Given the description of an element on the screen output the (x, y) to click on. 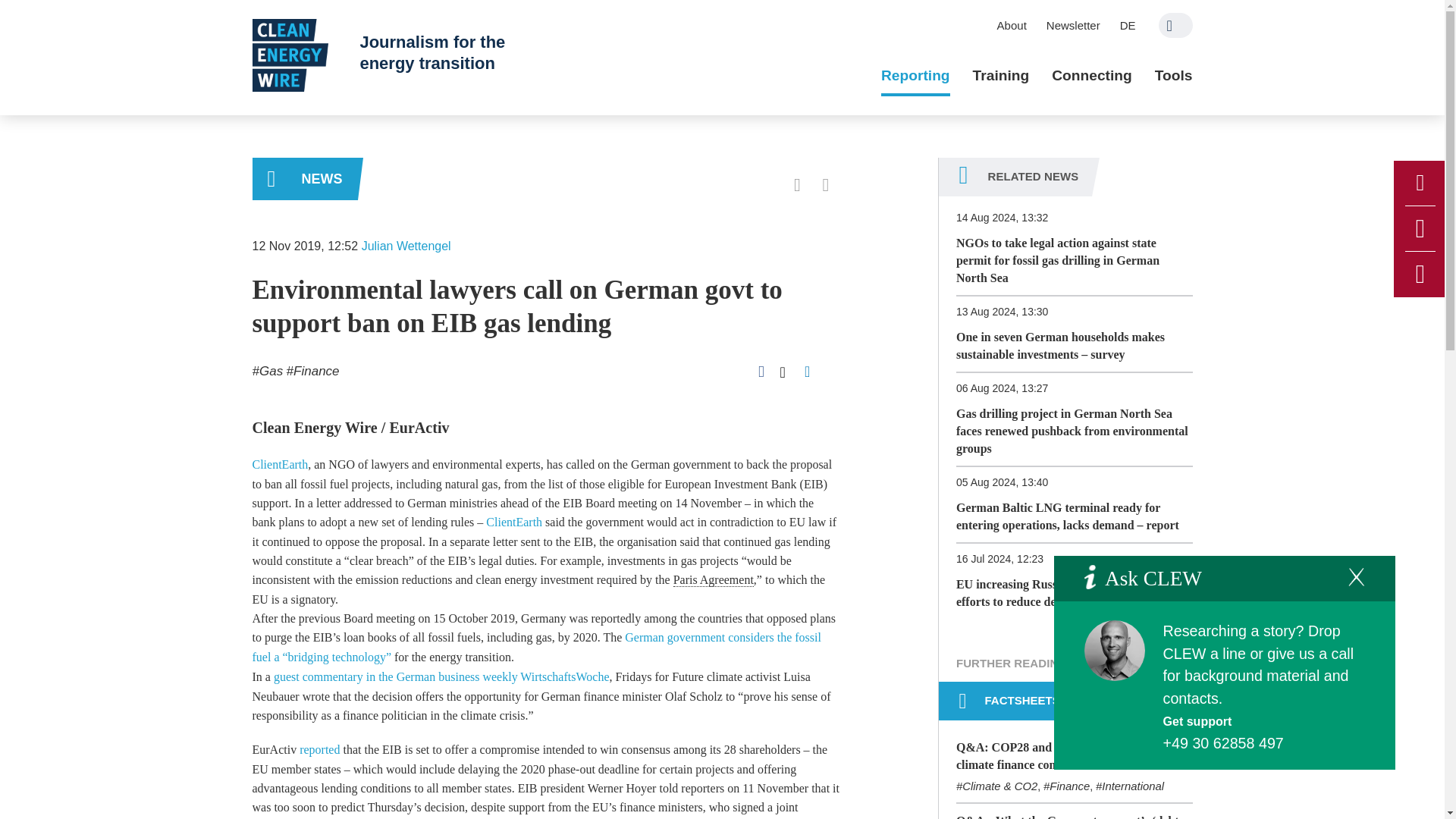
Finance (312, 370)
Sven Egenter (1114, 649)
Tools (1173, 75)
Julian Wettengel (406, 245)
About (1011, 25)
Newsletter (1072, 25)
Connecting (1091, 75)
Training (1000, 75)
Search (1175, 25)
DE (1127, 25)
